Given the description of an element on the screen output the (x, y) to click on. 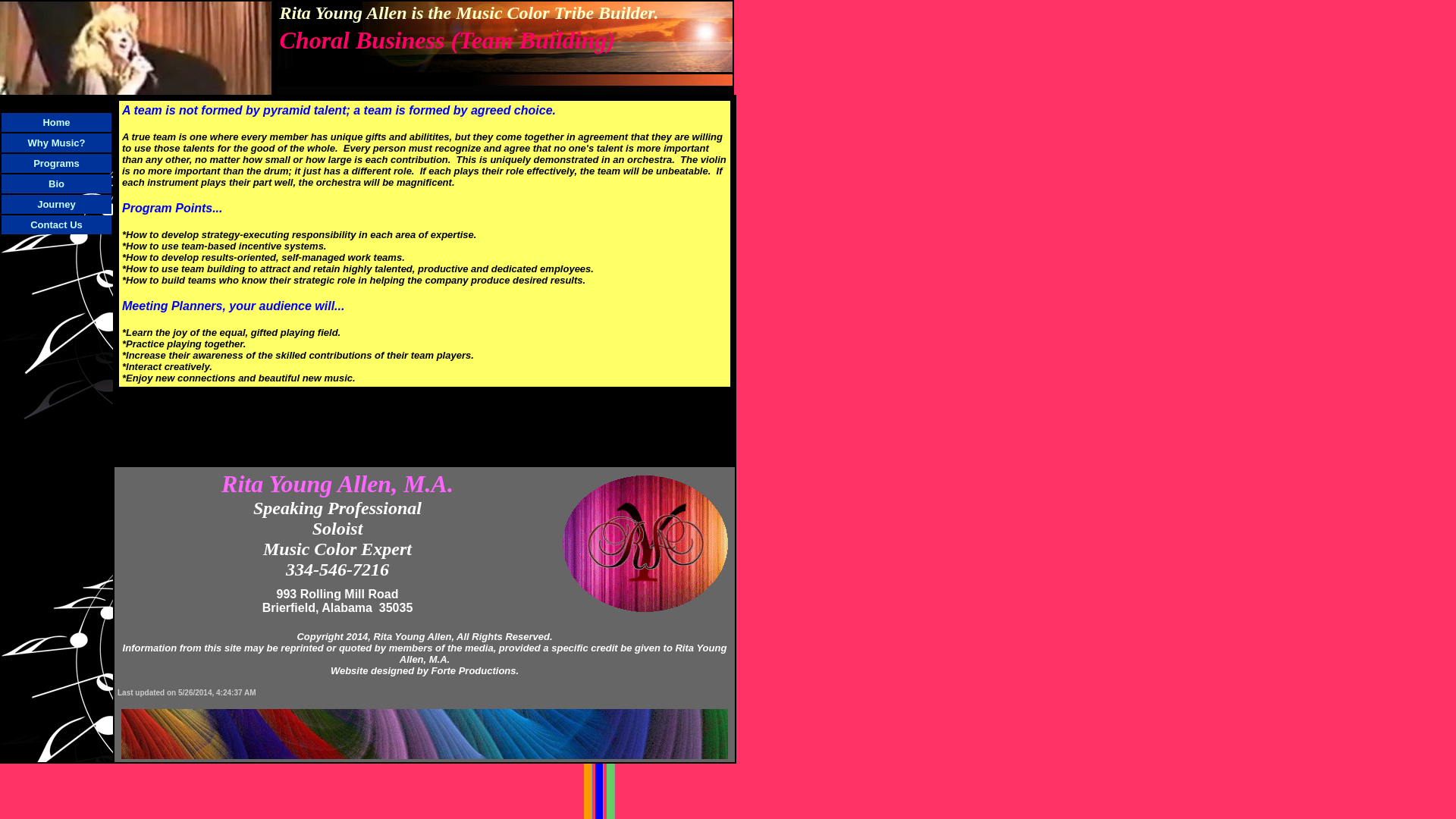
Why Music? (56, 141)
Home (55, 121)
Programs (56, 162)
Contact Us (56, 223)
Journey (56, 203)
Bio (56, 182)
